Given the description of an element on the screen output the (x, y) to click on. 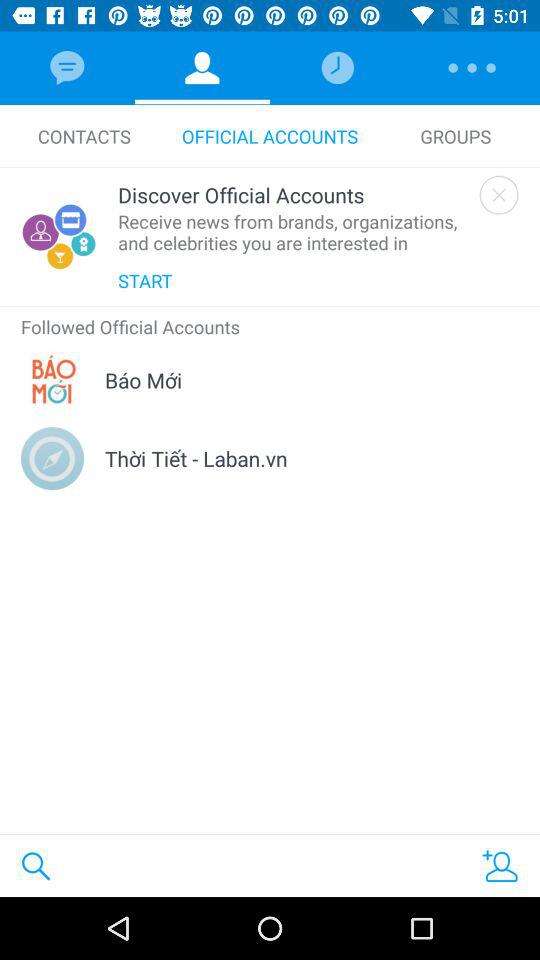
select the icon below the receive news from item (145, 280)
